Given the description of an element on the screen output the (x, y) to click on. 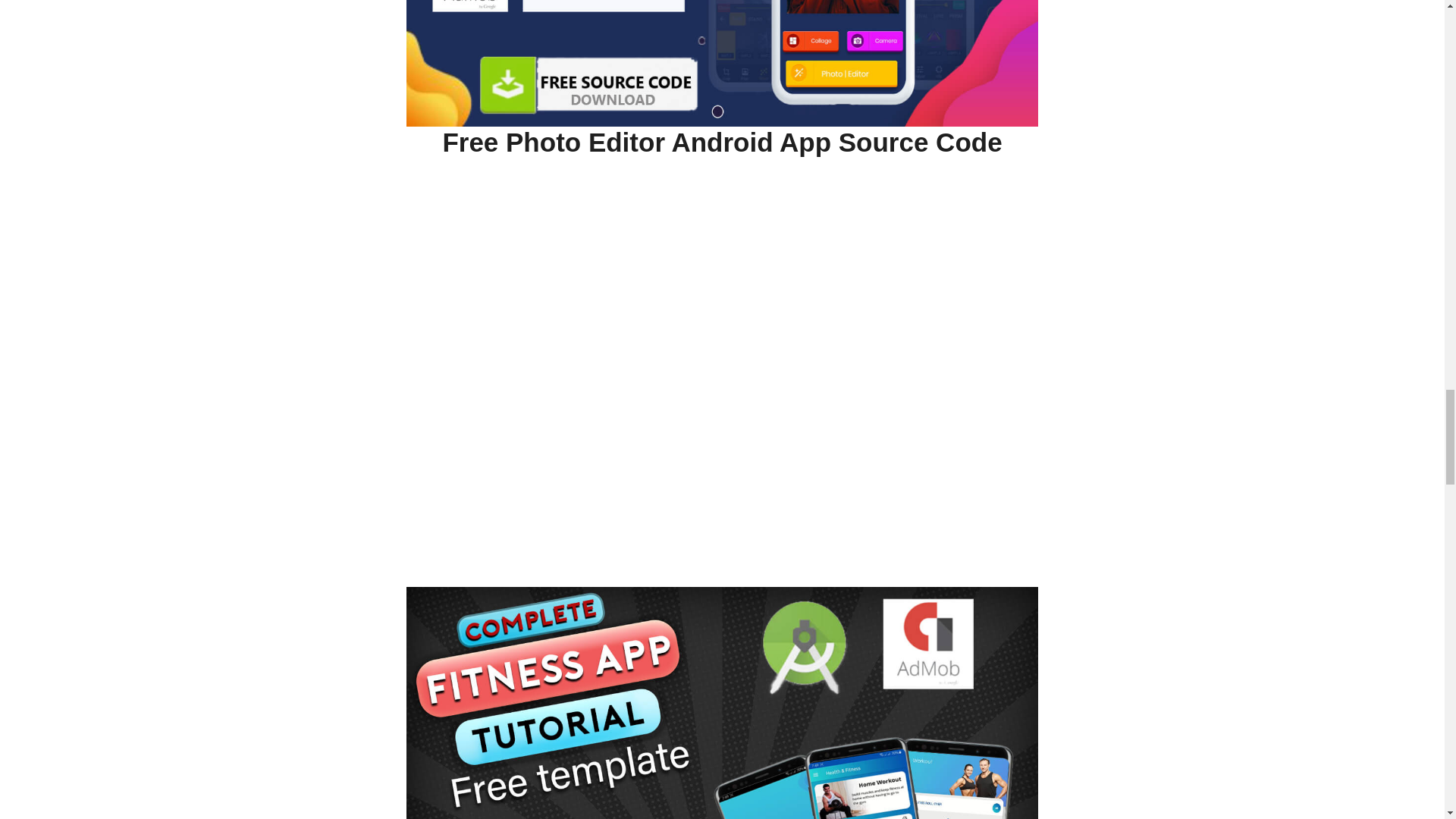
Free Photo Editor Android App Source Code (721, 142)
